Given the description of an element on the screen output the (x, y) to click on. 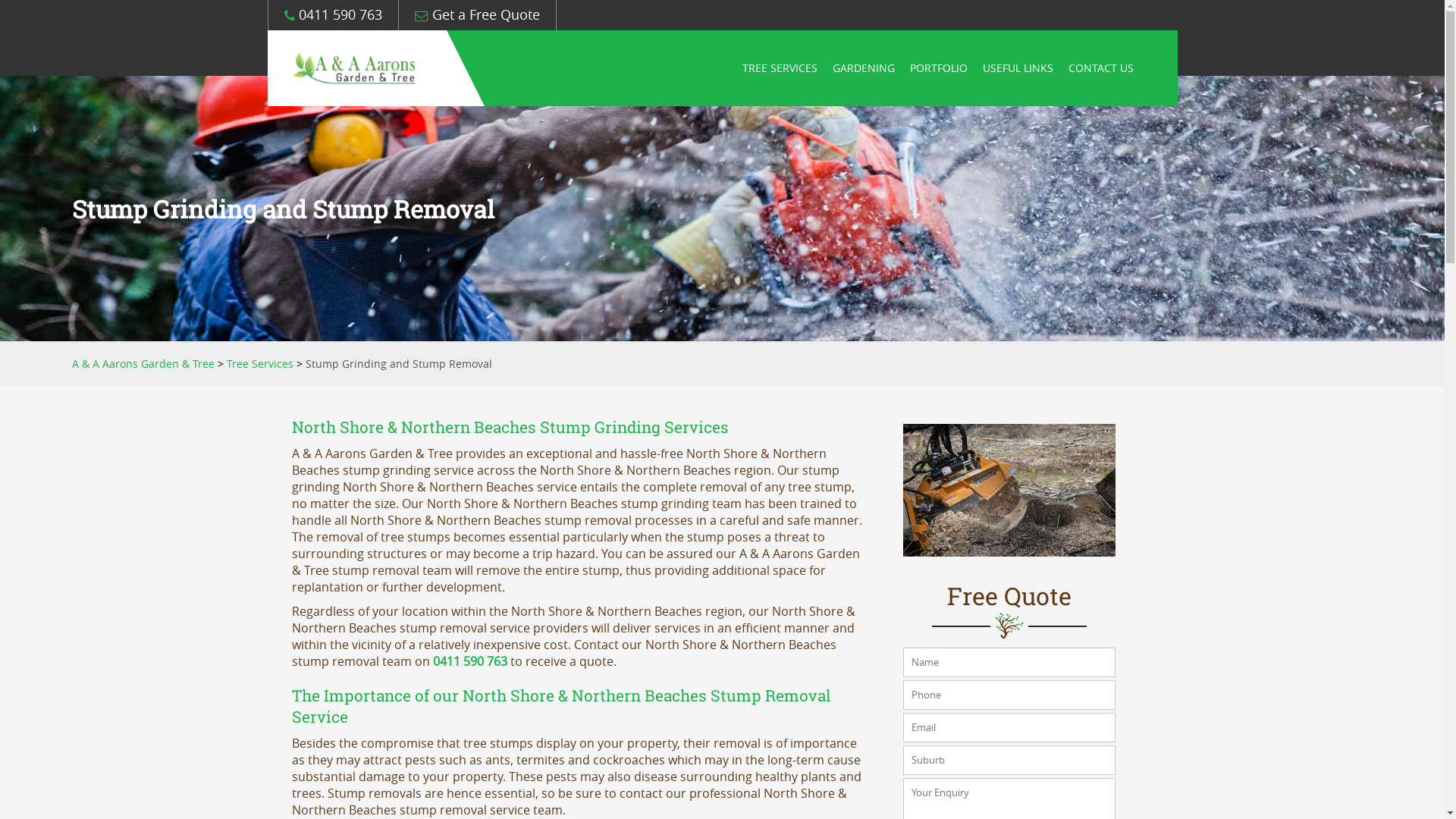
A & A Aarons Garden & Tree Element type: text (143, 363)
0411 590 763 Element type: text (331, 15)
Tree Services Element type: text (259, 363)
TREE SERVICES Element type: text (779, 67)
0411 590 763 Element type: text (470, 660)
USEFUL LINKS Element type: text (1017, 67)
CONTACT US Element type: text (1100, 67)
GARDENING Element type: text (863, 67)
Get a Free Quote Element type: text (476, 15)
PORTFOLIO Element type: text (938, 67)
